Given the description of an element on the screen output the (x, y) to click on. 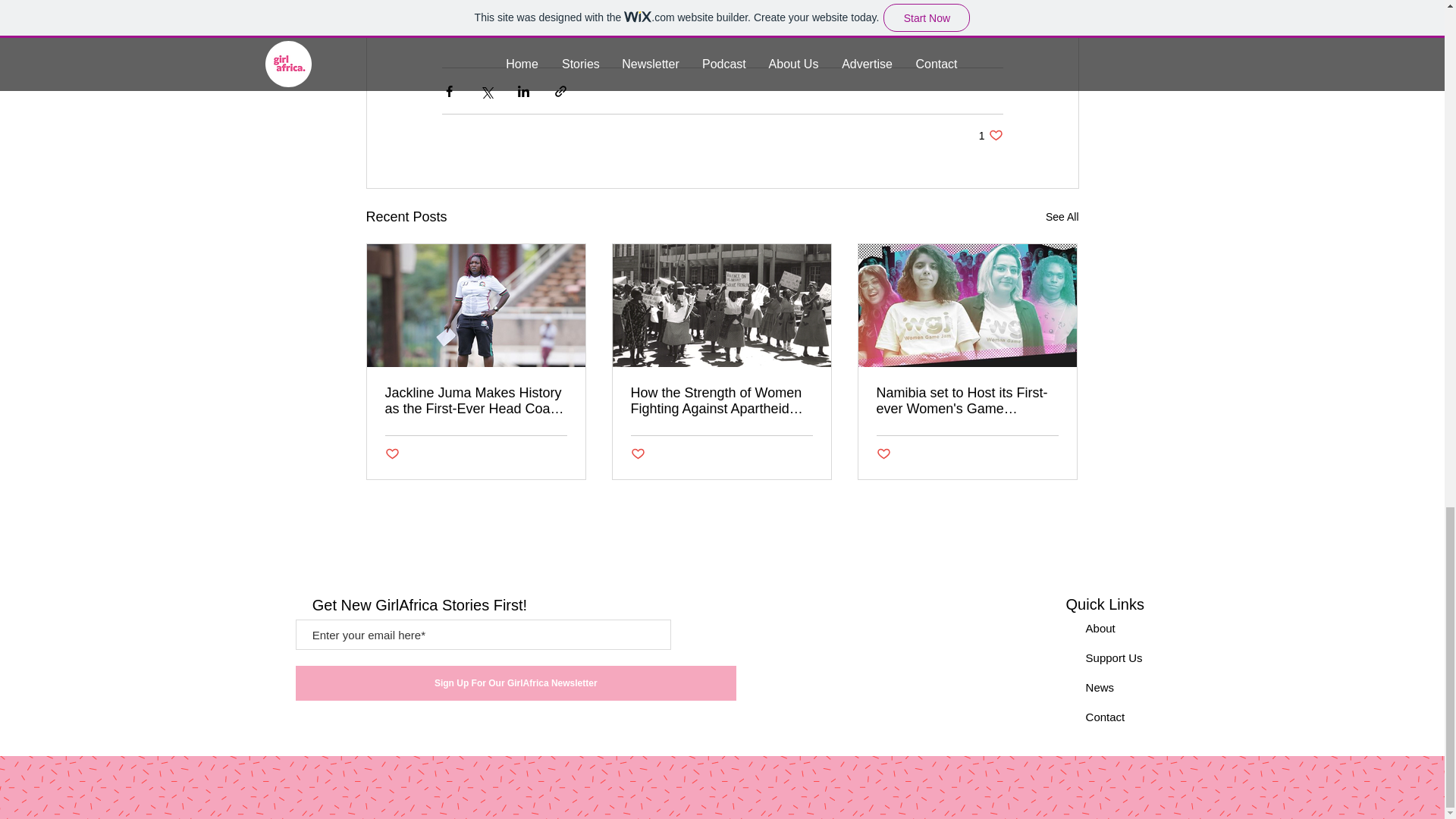
Post not marked as liked (883, 454)
Post not marked as liked (391, 454)
Contact (1105, 716)
Leadership (529, 18)
News (1100, 686)
See All (1061, 217)
Sign Up For Our GirlAfrica Newsletter (515, 683)
